Given the description of an element on the screen output the (x, y) to click on. 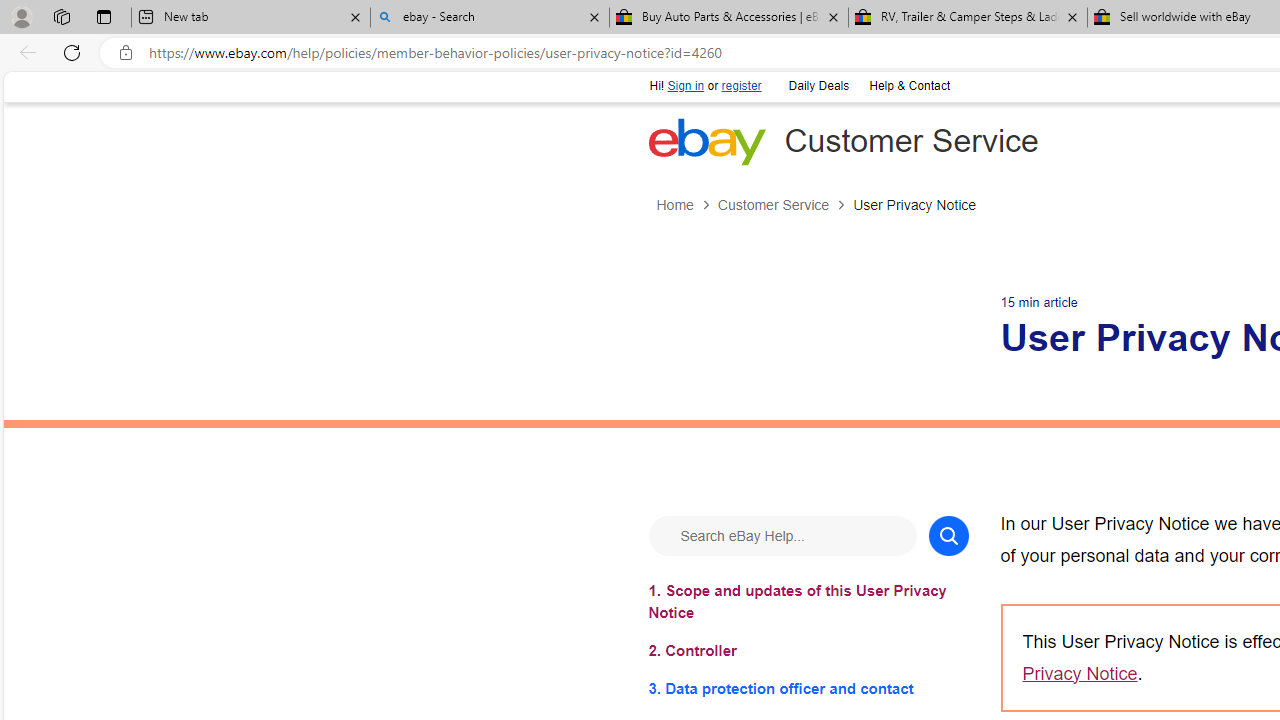
Buy Auto Parts & Accessories | eBay (729, 17)
RV, Trailer & Camper Steps & Ladders for sale | eBay (967, 17)
